Given the description of an element on the screen output the (x, y) to click on. 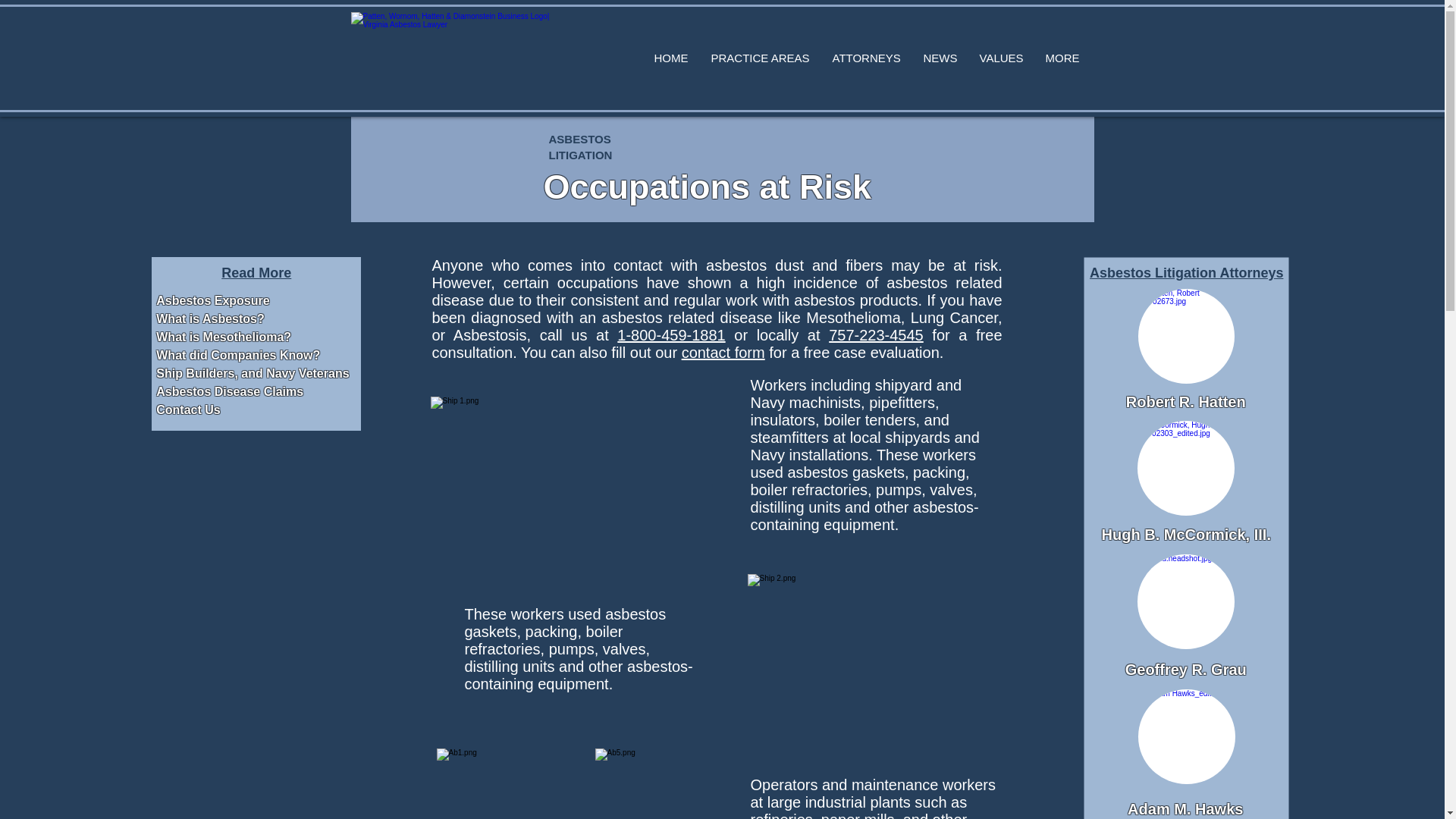
PRACTICE AREAS (764, 58)
VALUES (1005, 58)
HOME (674, 58)
What is Mesothelioma? (223, 336)
ATTORNEYS (870, 58)
Asbestos Exposure (212, 300)
What is Asbestos? (209, 318)
NEWS (943, 58)
